Given the description of an element on the screen output the (x, y) to click on. 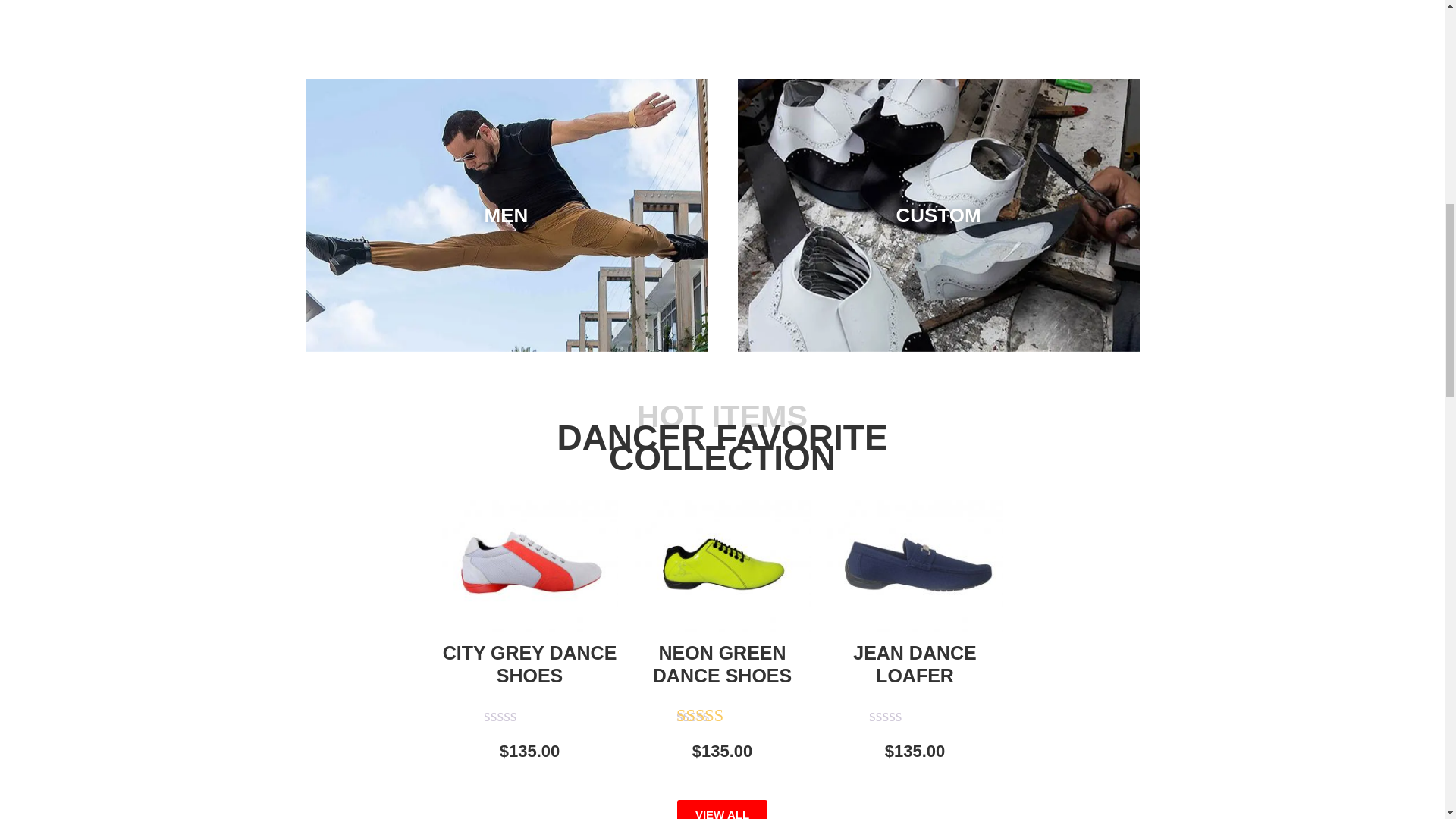
red bottom dance shoes (529, 565)
blue jean dance loafer (915, 565)
neon dance shoe (721, 565)
